Given the description of an element on the screen output the (x, y) to click on. 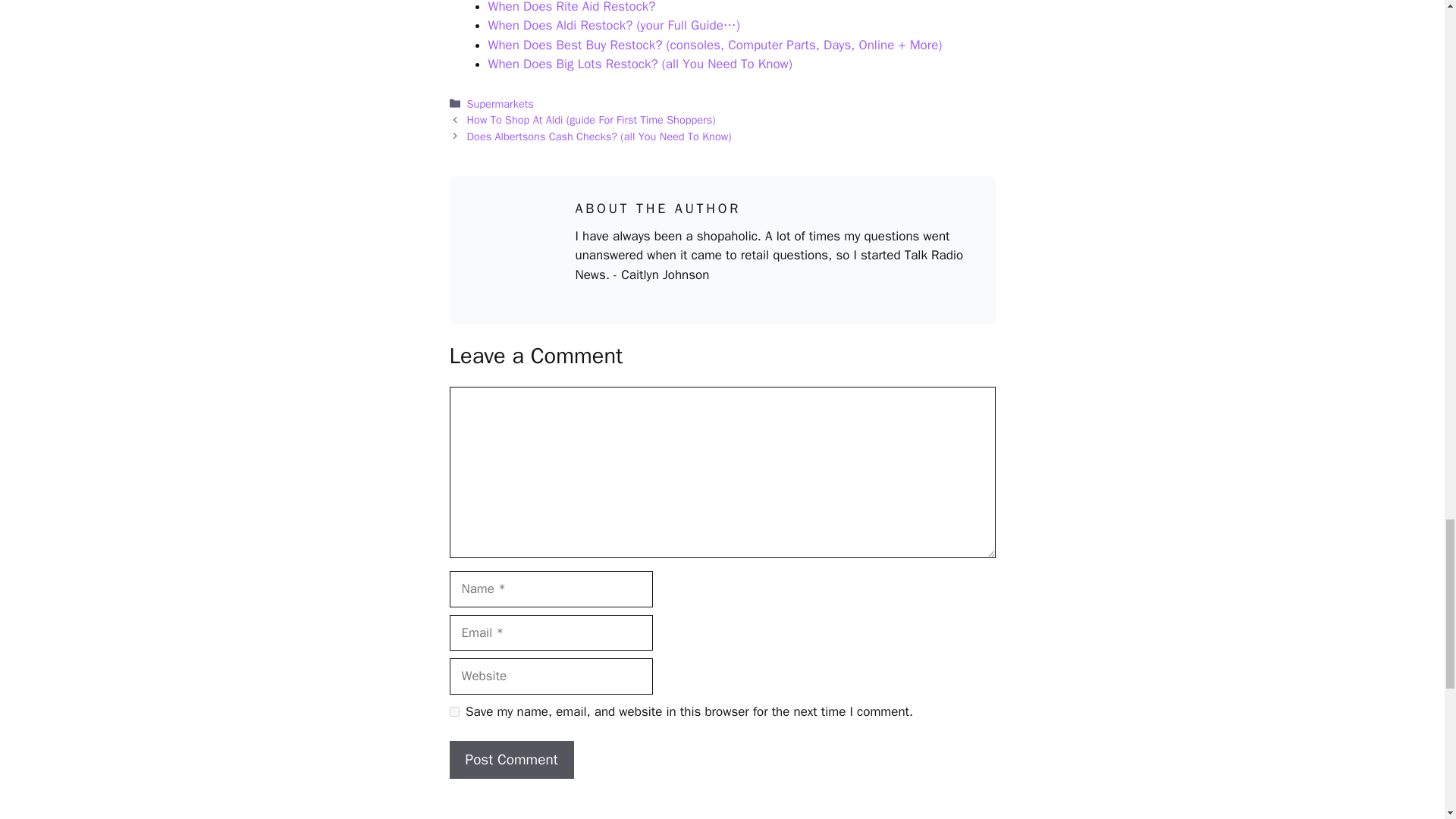
When Does Rite Aid Restock? (571, 7)
Post Comment (510, 760)
Previous (591, 119)
Supermarkets (500, 103)
Next (599, 136)
When Does Rite Aid Restock? (571, 7)
yes (453, 711)
Post Comment (510, 760)
